Given the description of an element on the screen output the (x, y) to click on. 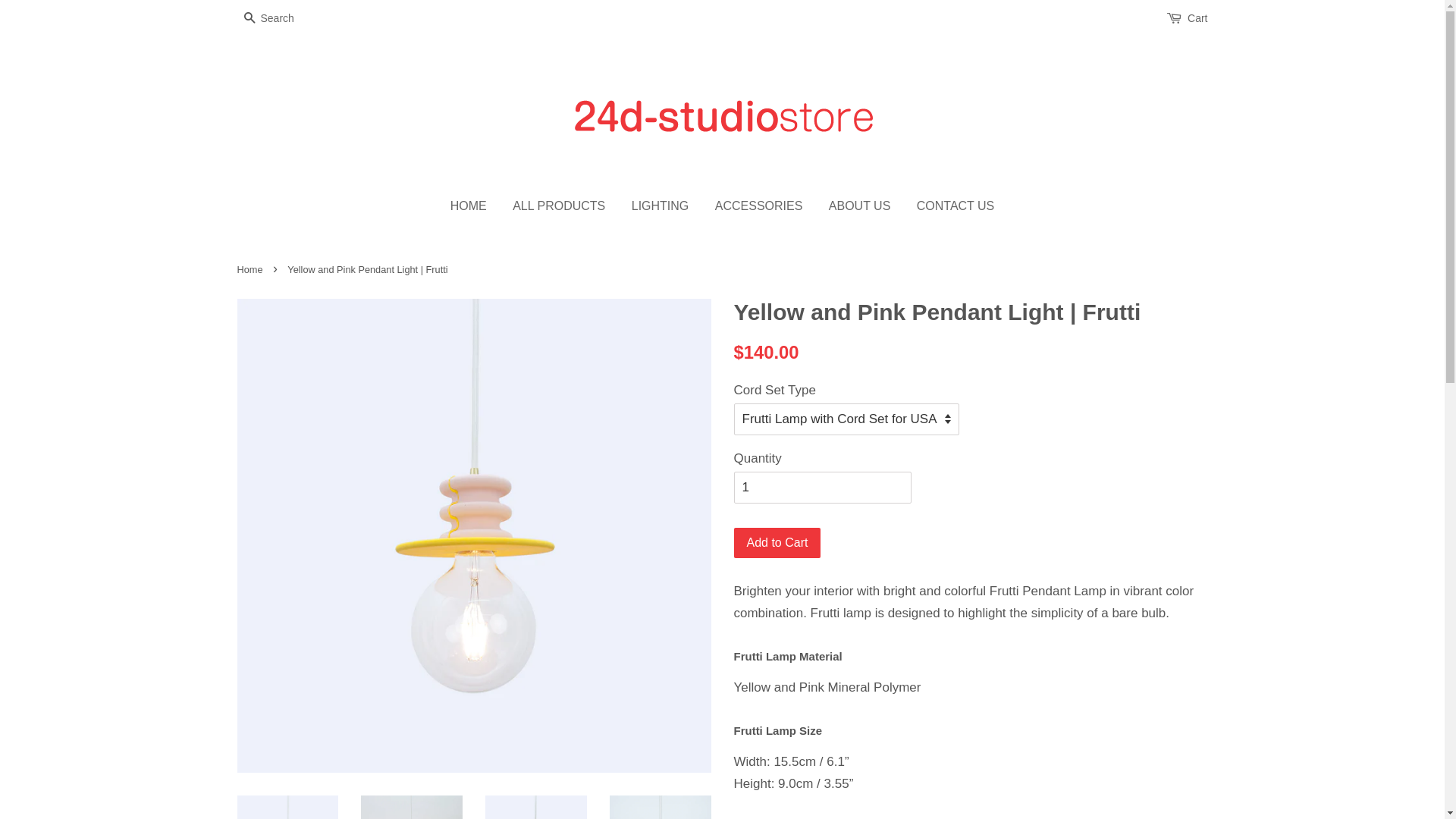
Cart Element type: text (1197, 18)
CONTACT US Element type: text (949, 205)
LIGHTING Element type: text (660, 205)
HOME Element type: text (474, 205)
Home Element type: text (251, 269)
ABOUT US Element type: text (859, 205)
ACCESSORIES Element type: text (758, 205)
ALL PRODUCTS Element type: text (558, 205)
Search Element type: text (248, 18)
Add to Cart Element type: text (777, 542)
